Given the description of an element on the screen output the (x, y) to click on. 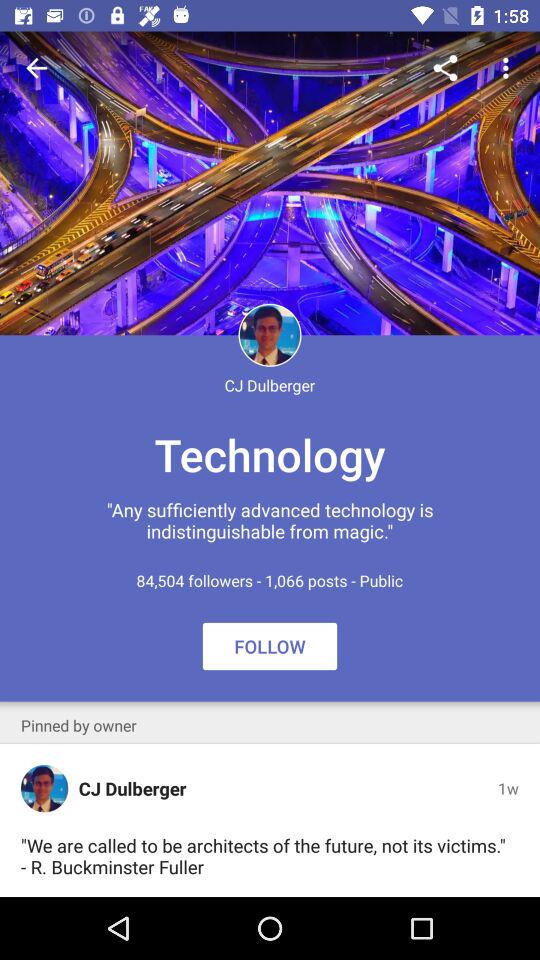
choose the follow item (269, 646)
